Given the description of an element on the screen output the (x, y) to click on. 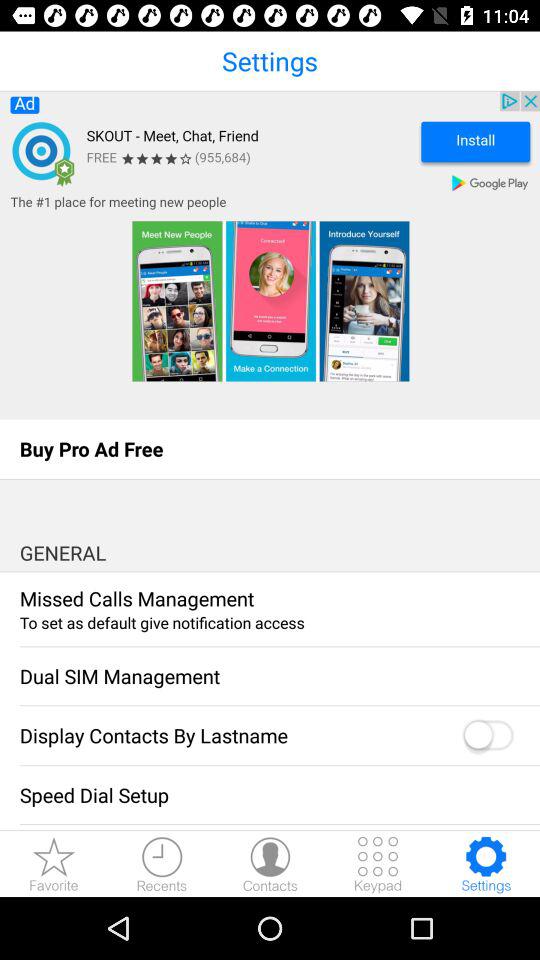
toggle display contacts by last name (487, 736)
